Given the description of an element on the screen output the (x, y) to click on. 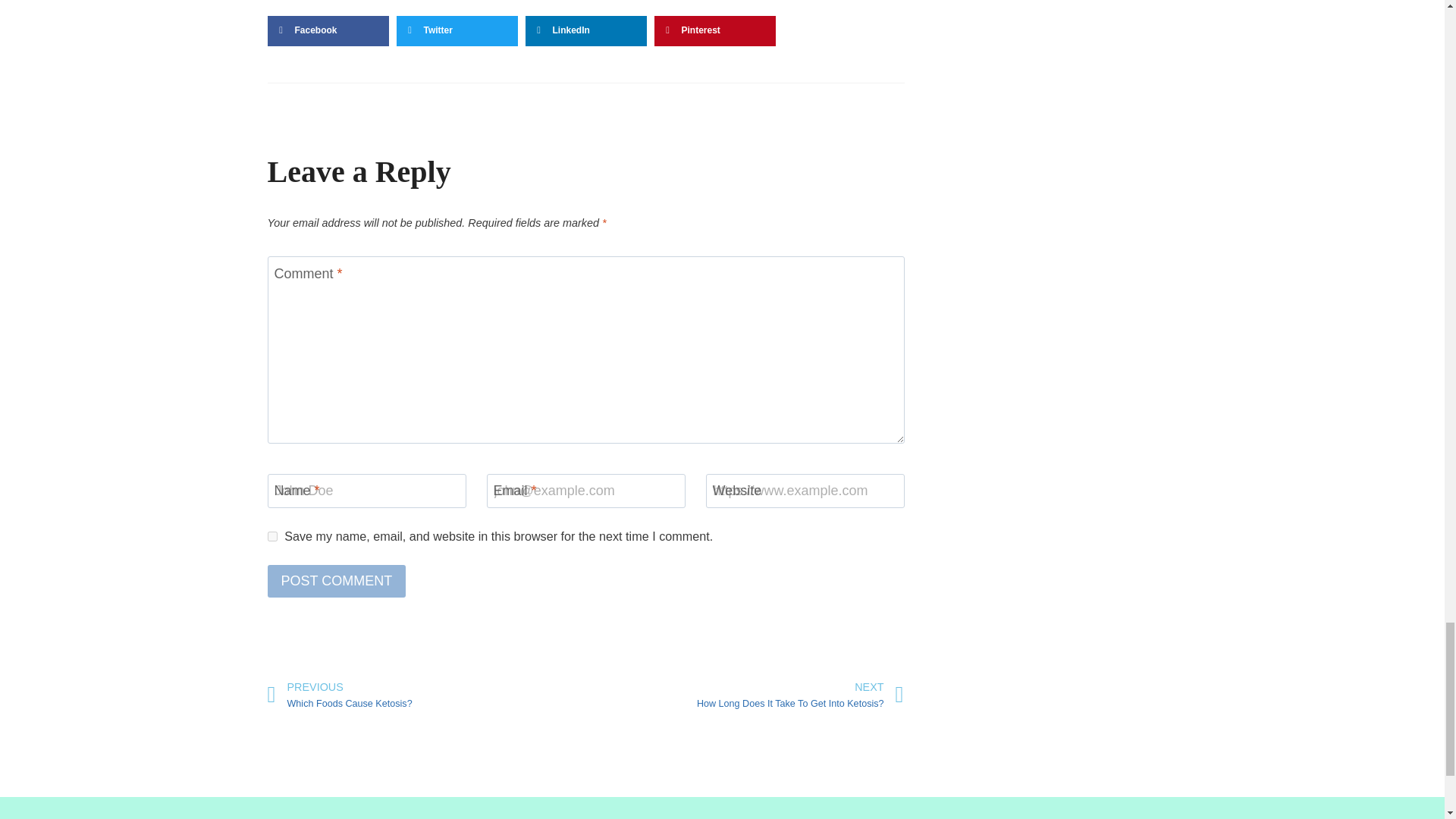
yes (271, 536)
Post Comment (336, 581)
Post Comment (425, 695)
